Given the description of an element on the screen output the (x, y) to click on. 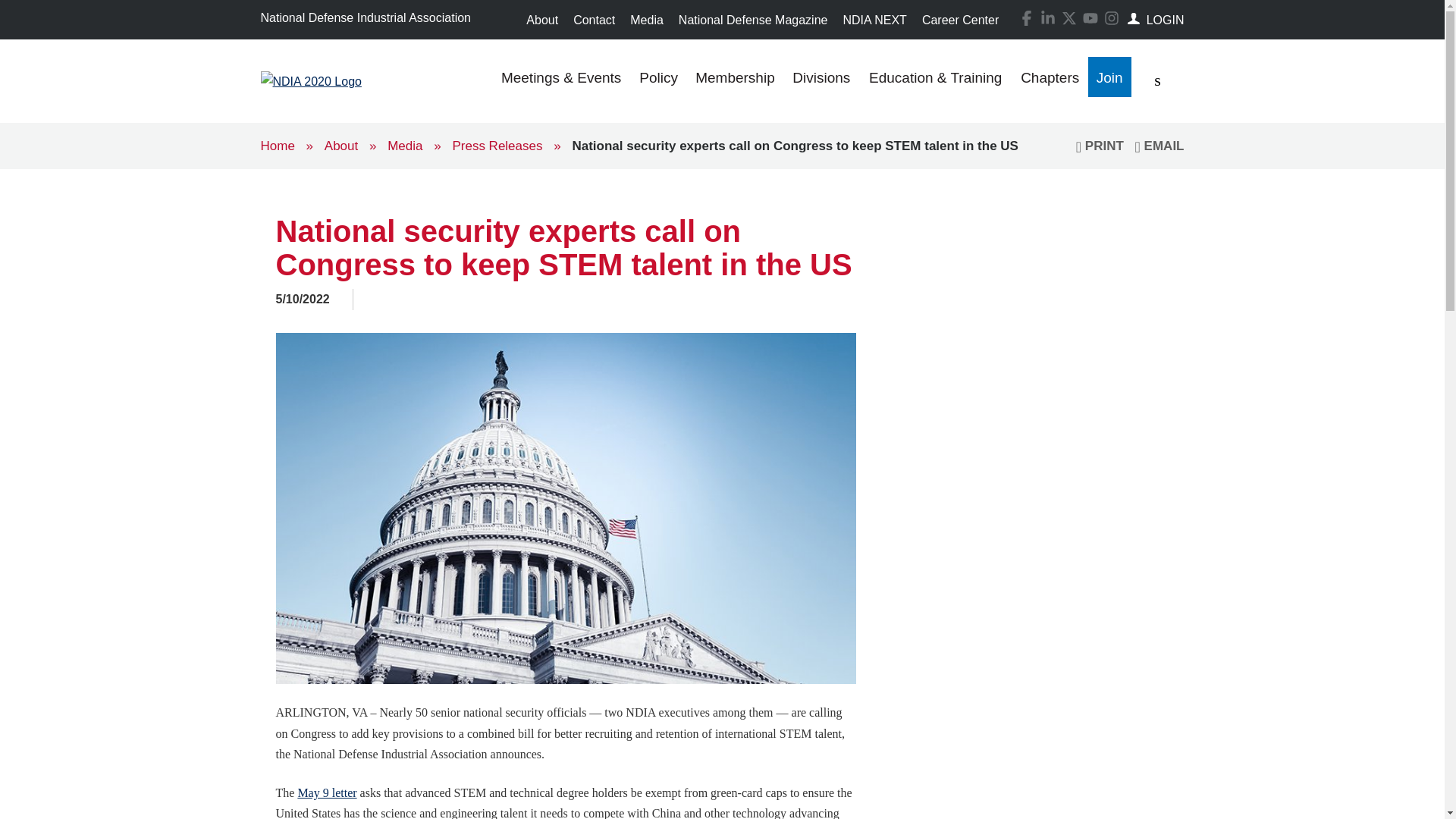
LinkedIn (1045, 17)
Twitter (1067, 17)
YouTube (1087, 17)
Membership (734, 80)
Facebook (1023, 17)
Instagram (1111, 17)
Instagram (1109, 17)
LinkedIn (1048, 17)
National Defense Magazine (753, 19)
X (1069, 17)
